Given the description of an element on the screen output the (x, y) to click on. 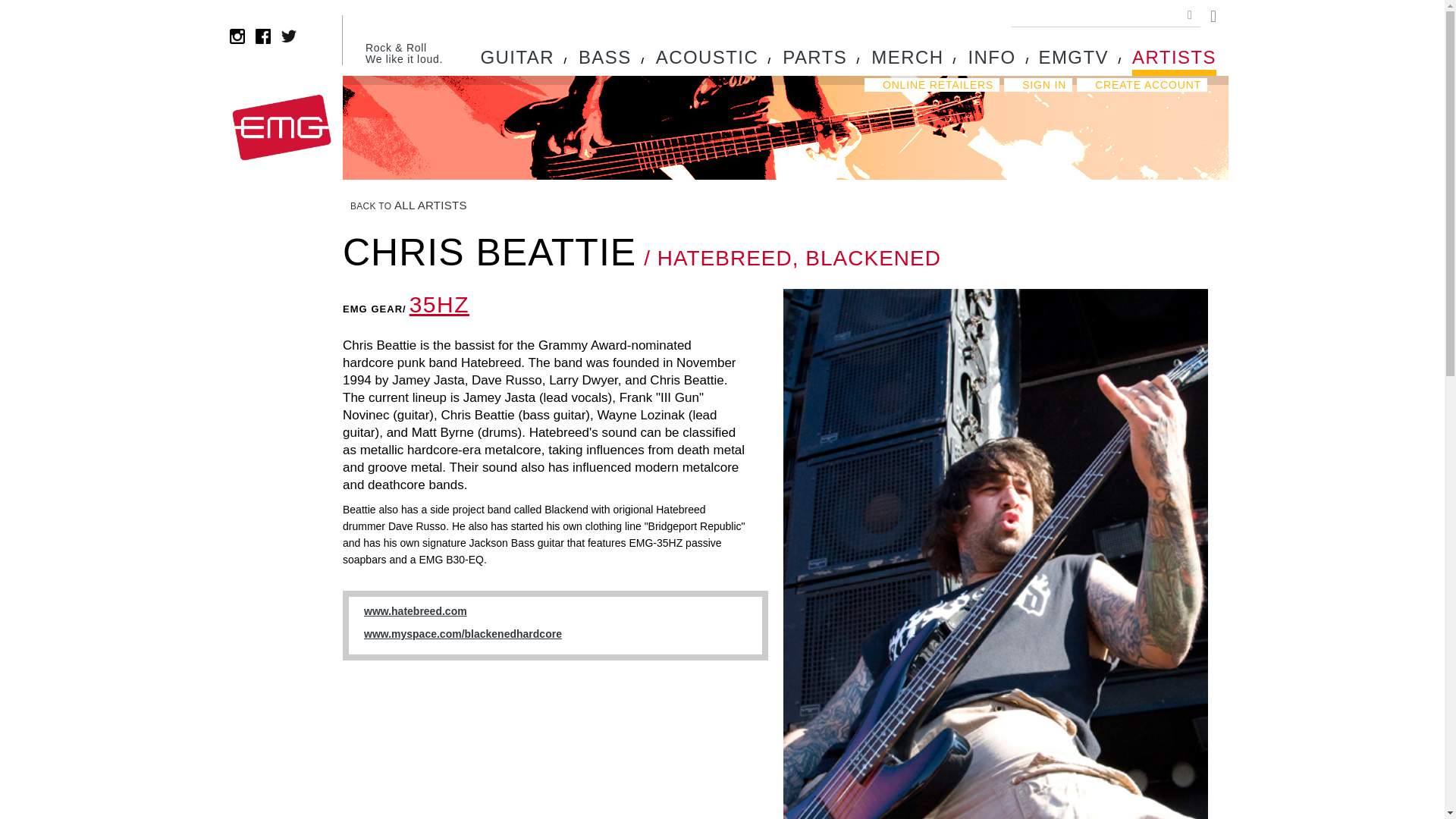
ACOUSTIC (707, 60)
Facebook (263, 36)
BASS (604, 60)
CREATE ACCOUNT (1142, 84)
Twitter (289, 36)
SIGN IN (1037, 84)
GUITAR (517, 60)
Instagram (237, 36)
ONLINE RETAILERS (931, 84)
